Given the description of an element on the screen output the (x, y) to click on. 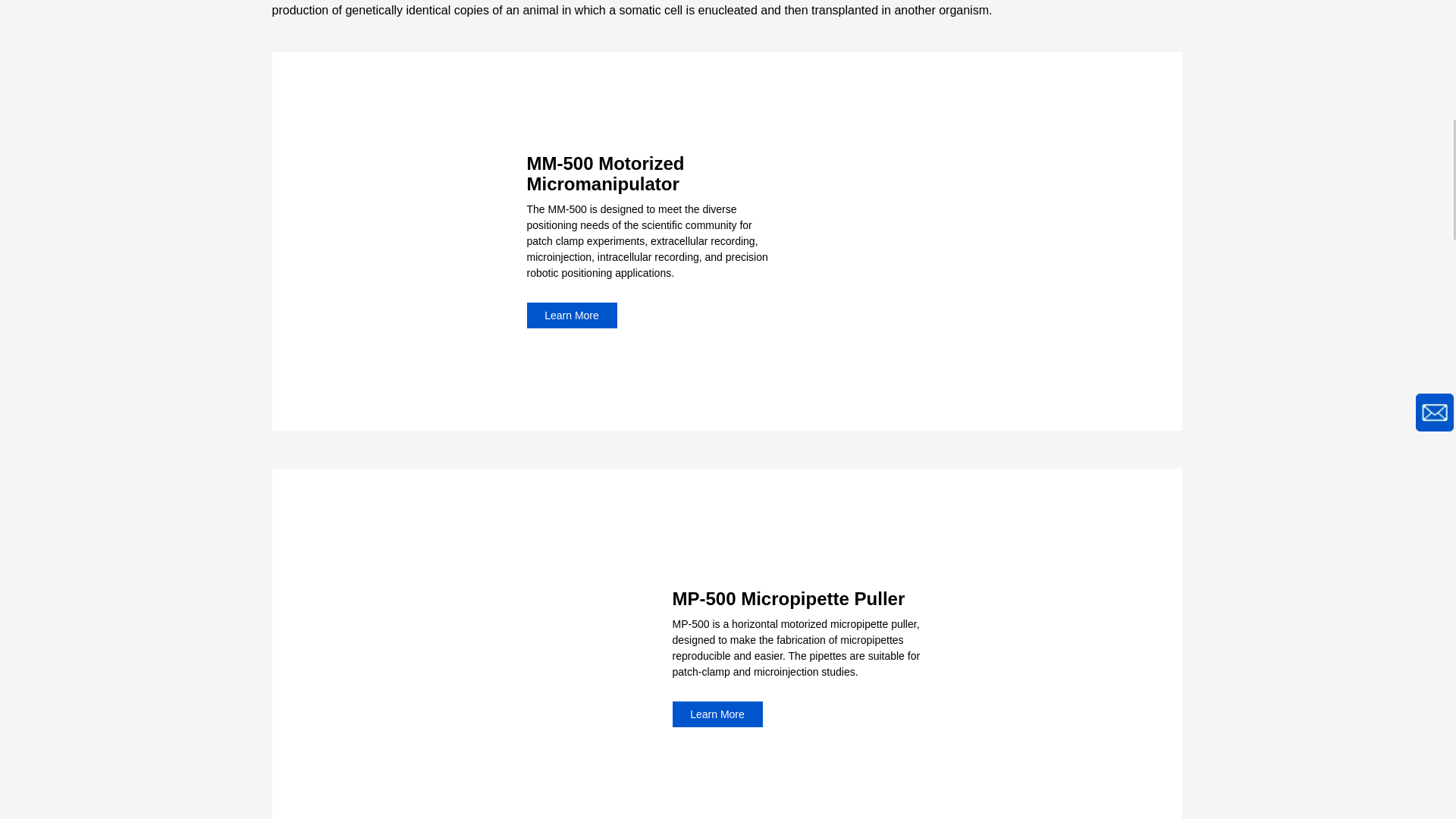
Learn More (570, 315)
Learn More (716, 714)
